Given the description of an element on the screen output the (x, y) to click on. 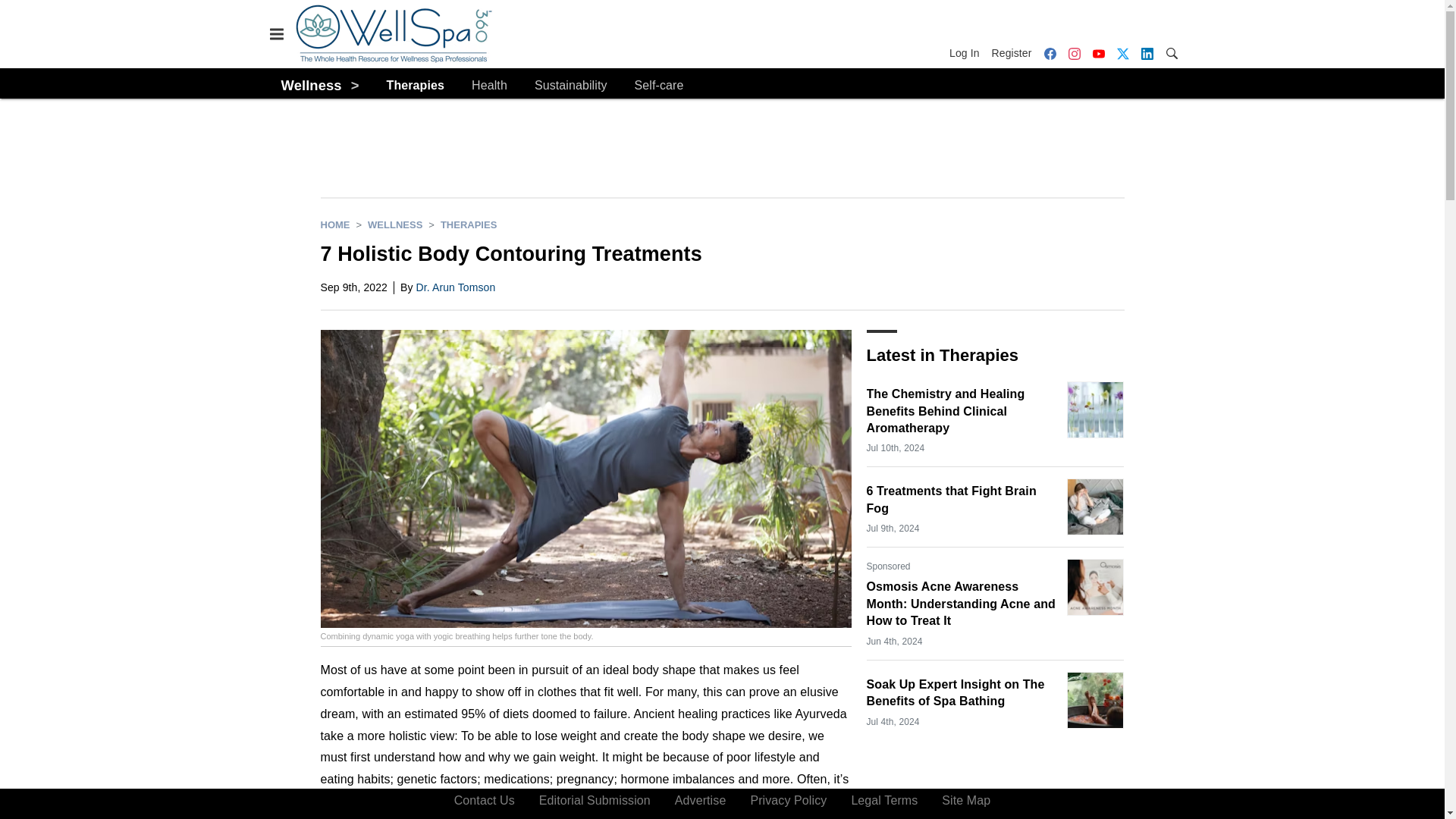
Health (488, 85)
Facebook icon (1048, 53)
LinkedIn icon (1146, 53)
Twitter X icon (1122, 53)
Therapies (416, 85)
Log In (967, 53)
Home (334, 224)
YouTube icon (1097, 53)
Wellness (310, 85)
Sponsored (888, 566)
Facebook icon (1049, 53)
Instagram icon (1073, 53)
LinkedIn icon (1146, 53)
Twitter X icon (1121, 53)
Sustainability (570, 85)
